Given the description of an element on the screen output the (x, y) to click on. 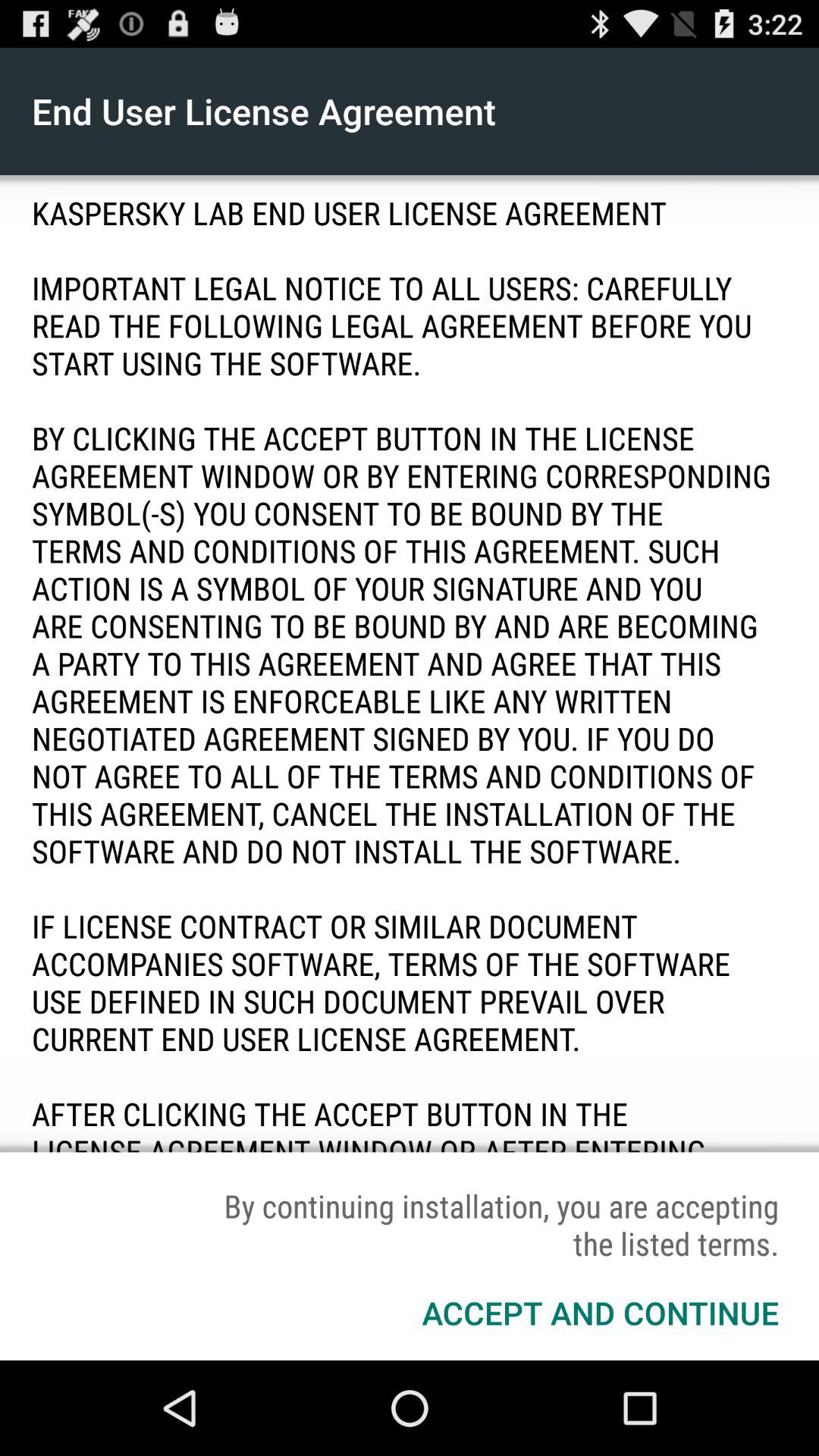
scroll until the accept and continue icon (600, 1312)
